Given the description of an element on the screen output the (x, y) to click on. 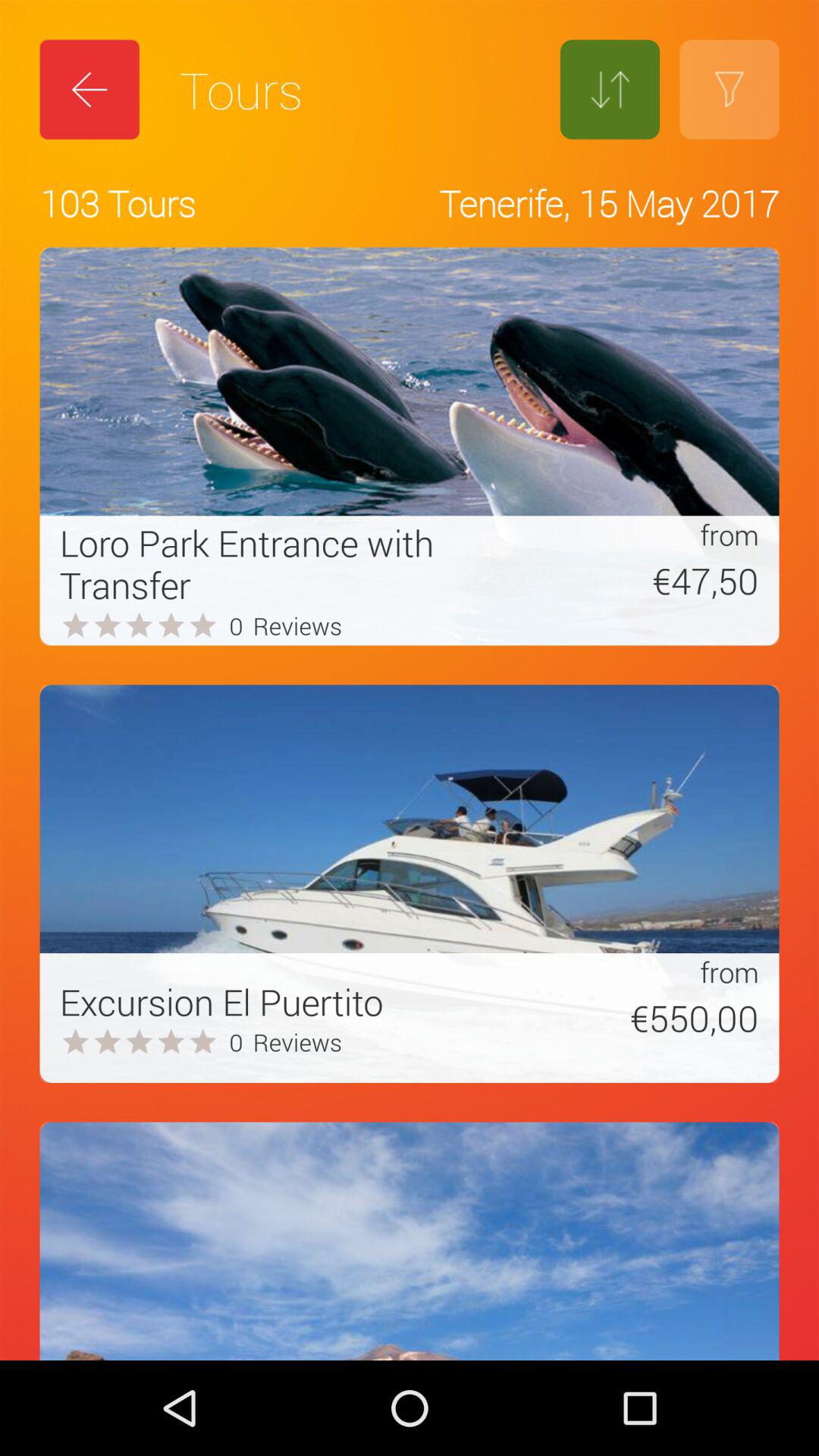
tap item above tenerife 15 may (609, 89)
